Given the description of an element on the screen output the (x, y) to click on. 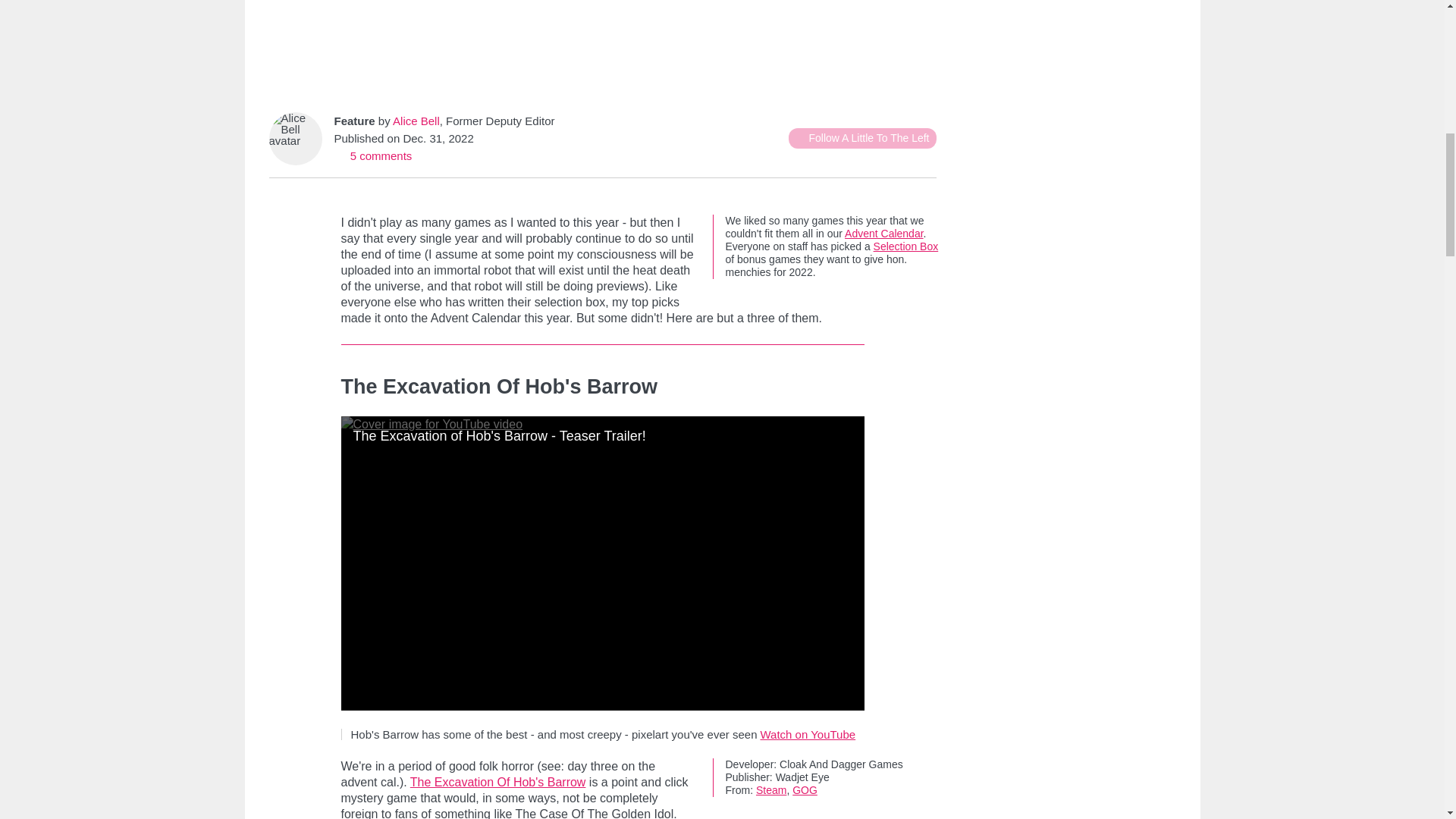
Advent Calendar (883, 233)
Follow A Little To The Left (862, 137)
Steam (770, 789)
Alice Bell (416, 120)
5 comments (372, 155)
Selection Box (906, 246)
The Excavation Of Hob's Barrow (498, 781)
Watch on YouTube (808, 734)
GOG (804, 789)
